Given the description of an element on the screen output the (x, y) to click on. 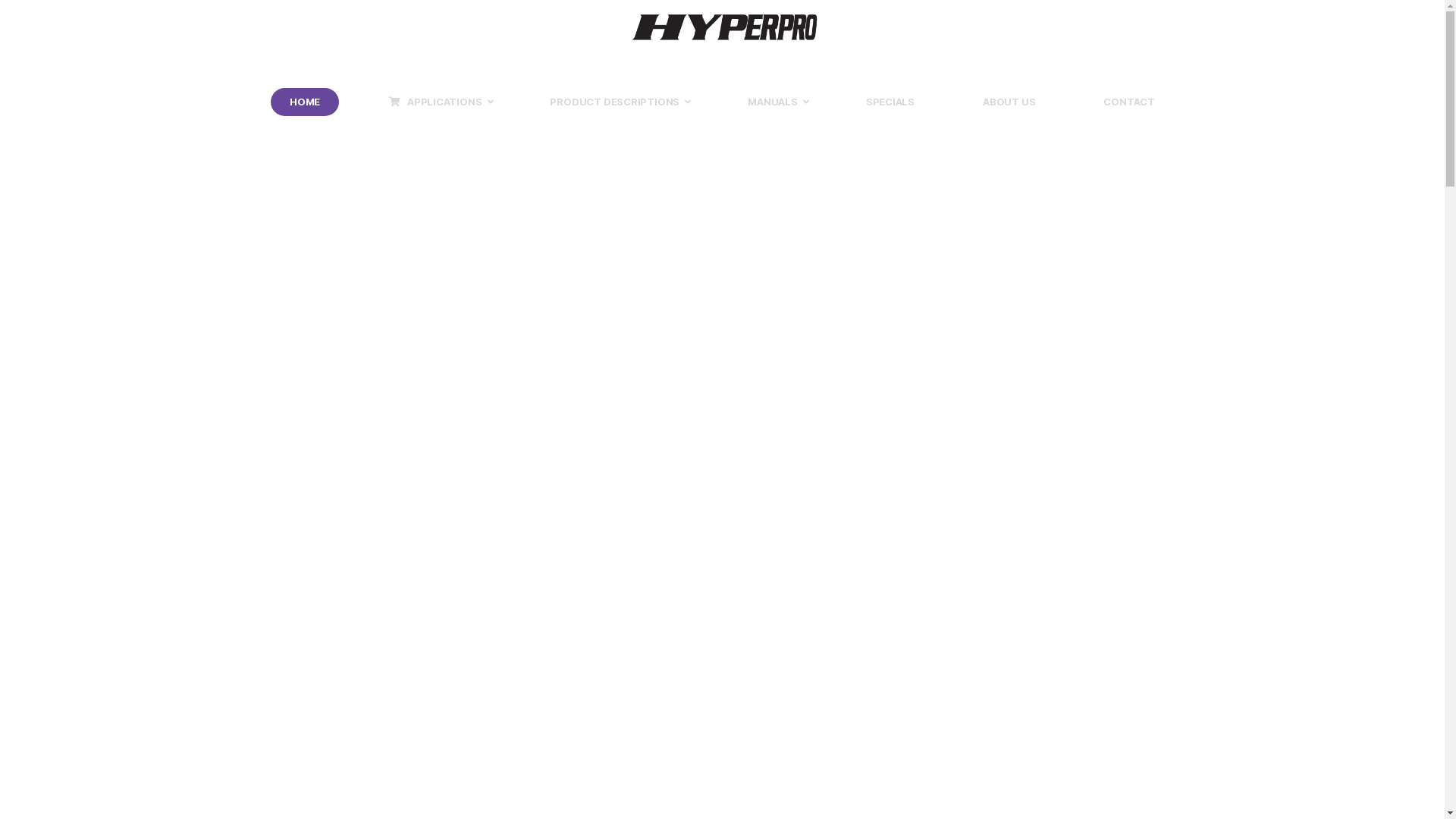
MANUALS Element type: text (772, 101)
PRODUCT DESCRIPTIONS Element type: text (614, 101)
CONTACT Element type: text (1128, 101)
HOME Element type: text (304, 101)
ABOUT US Element type: text (1008, 101)
APPLICATIONS Element type: text (434, 101)
SPECIALS Element type: text (890, 101)
